Given the description of an element on the screen output the (x, y) to click on. 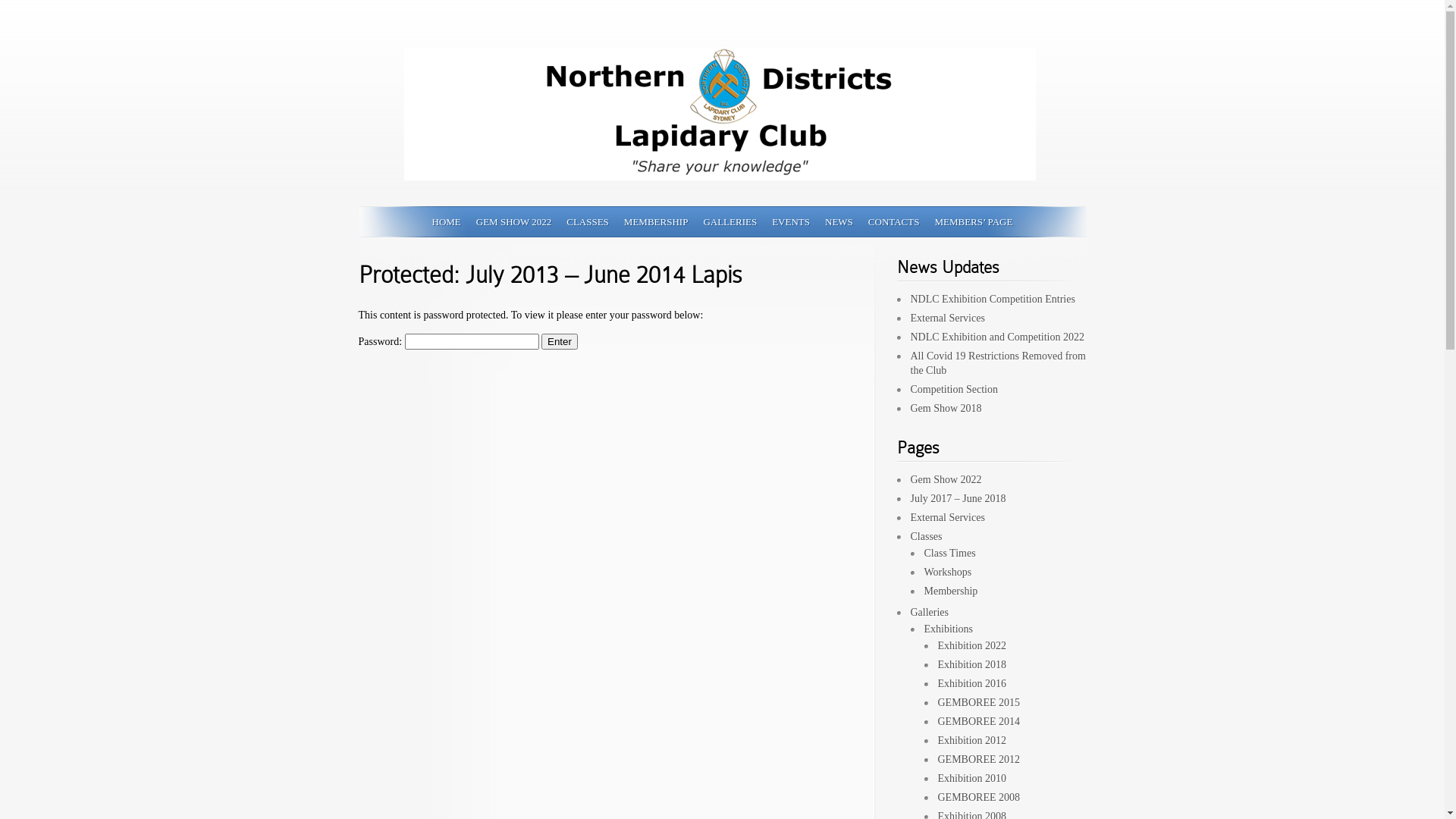
Enter Element type: text (559, 341)
NDLC Exhibition Competition Entries Element type: text (992, 298)
NEWS Element type: text (839, 221)
GEMBOREE 2015 Element type: text (978, 702)
All Covid 19 Restrictions Removed from the Club Element type: text (997, 363)
Exhibition 2018 Element type: text (971, 664)
External Services Element type: text (947, 317)
HOME Element type: text (446, 221)
Competition Section Element type: text (953, 389)
Gem Show 2018 Element type: text (945, 408)
Class Times Element type: text (949, 552)
Membership Element type: text (950, 590)
CLASSES Element type: text (587, 221)
Exhibition 2010 Element type: text (971, 778)
Exhibitions Element type: text (947, 628)
Exhibition 2022 Element type: text (971, 645)
Exhibition 2012 Element type: text (971, 740)
EVENTS Element type: text (790, 221)
External Services Element type: text (947, 517)
MEMBERSHIP Element type: text (656, 221)
CONTACTS Element type: text (893, 221)
Gem Show 2022 Element type: text (945, 479)
GALLERIES Element type: text (729, 221)
Exhibition 2016 Element type: text (971, 683)
Workshops Element type: text (947, 571)
NDLC Exhibition and Competition 2022 Element type: text (996, 336)
GEMBOREE 2008 Element type: text (978, 797)
Galleries Element type: text (929, 612)
GEM SHOW 2022 Element type: text (513, 221)
GEMBOREE 2014 Element type: text (978, 721)
Classes Element type: text (925, 536)
GEMBOREE 2012 Element type: text (978, 759)
